Given the description of an element on the screen output the (x, y) to click on. 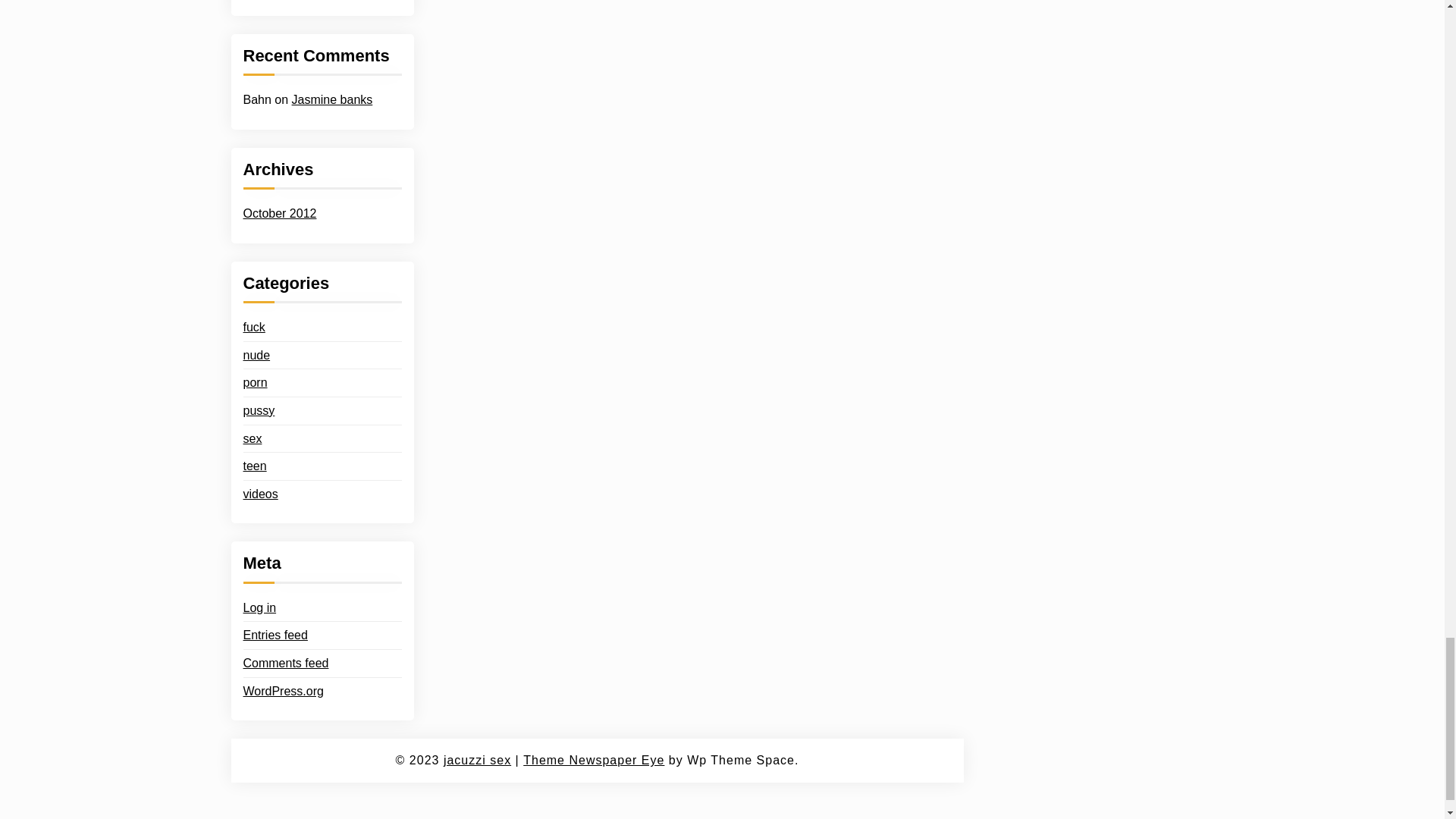
Jasmine banks (332, 99)
videos (260, 494)
sex (252, 438)
jacuzzi sex (477, 760)
porn (254, 383)
October 2012 (279, 213)
Log in (259, 608)
teen (254, 465)
WordPress.org (283, 691)
Entries feed (275, 635)
